Given the description of an element on the screen output the (x, y) to click on. 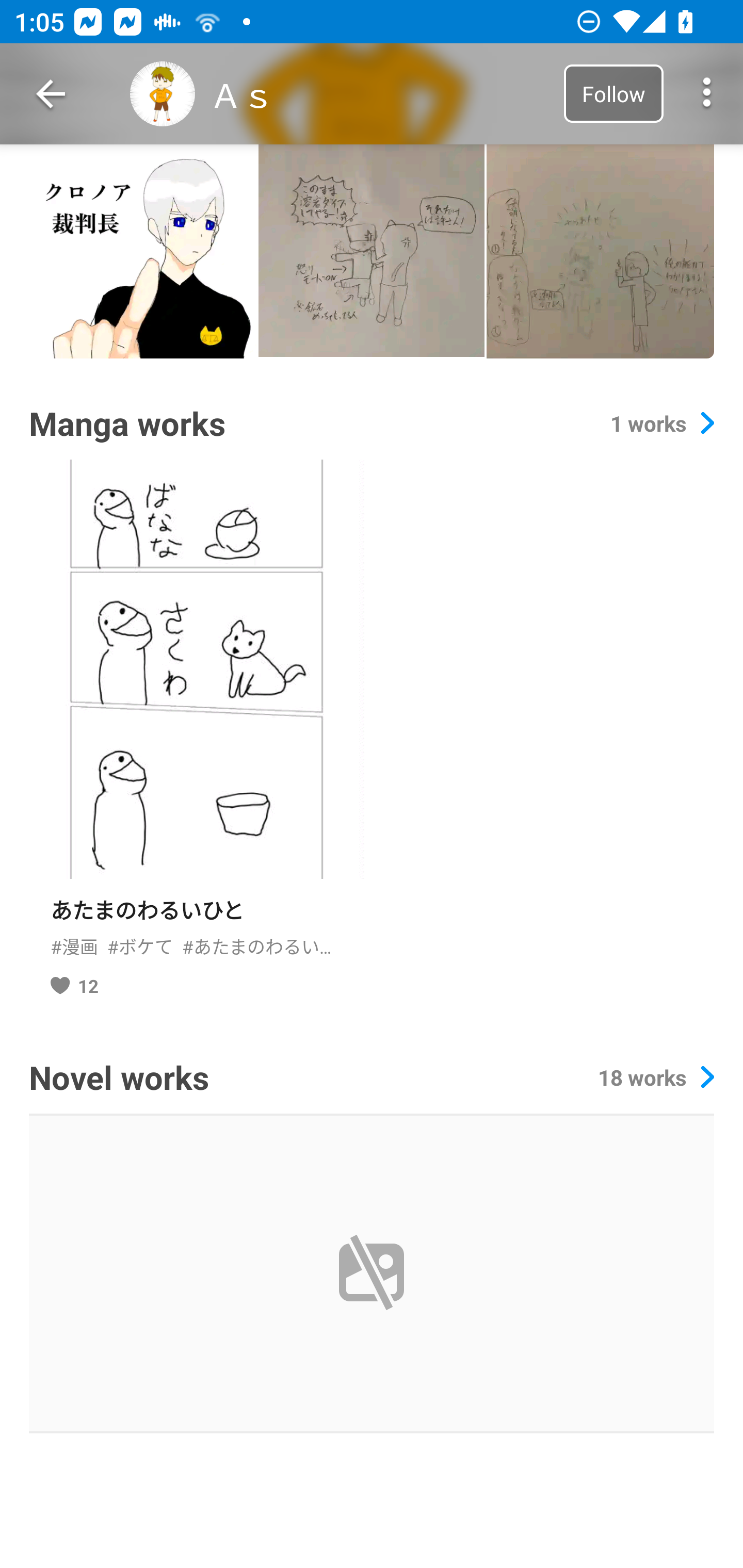
Navigate up (50, 93)
More options (706, 93)
Follow (613, 93)
1 works (662, 423)
あたまのわるいひと #漫画  #ボケて  #あたまのわるいひと  #成仏  #ボツ案 12 (196, 735)
18 works (656, 1077)
